Given the description of an element on the screen output the (x, y) to click on. 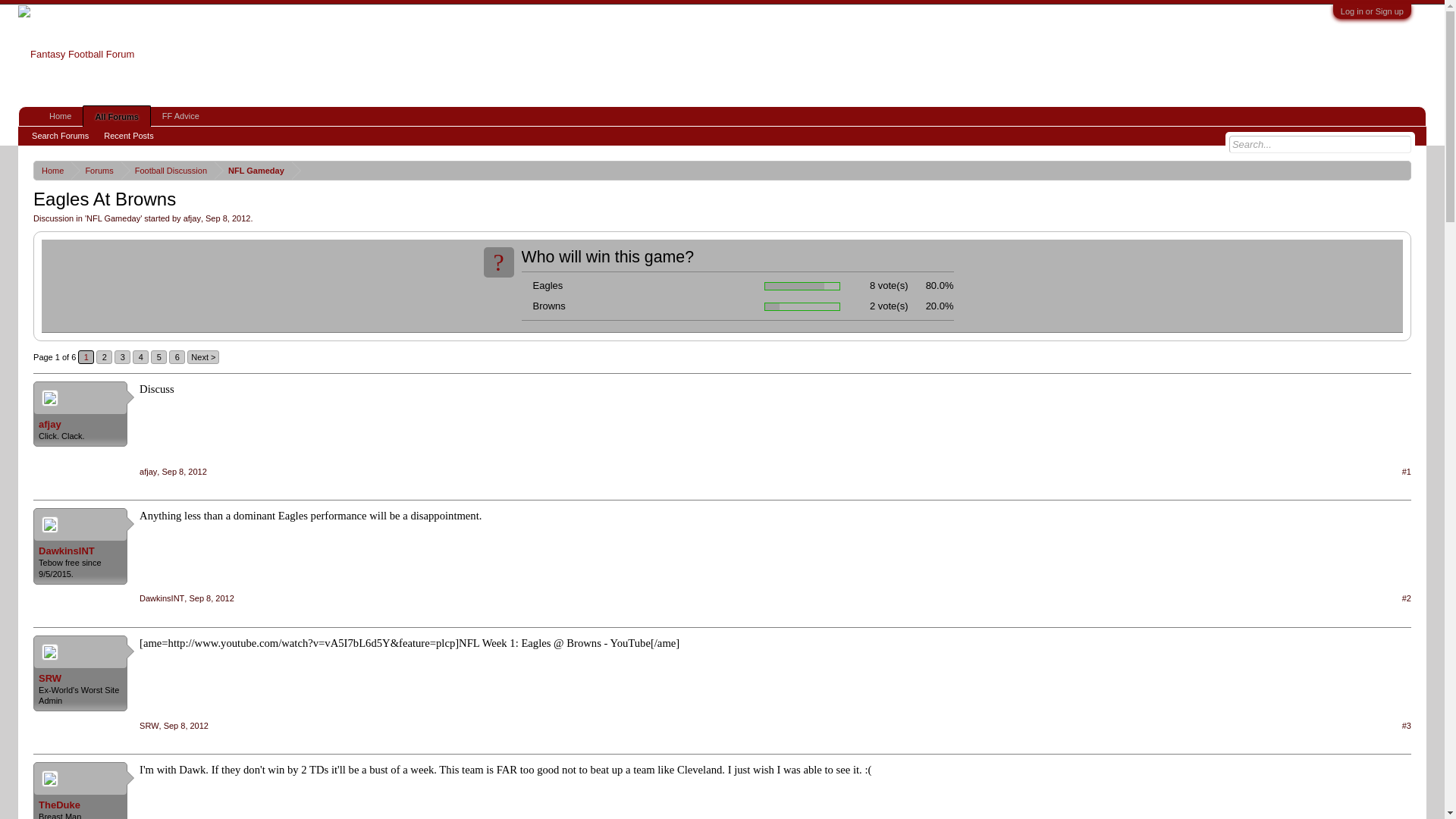
3 (123, 356)
afjay (148, 470)
Sep 8, 2012 (210, 597)
Forums (95, 170)
Permalink (183, 470)
Sep 8, 2012 at 12:23 PM (227, 217)
NFL Gameday (112, 217)
Permalink (185, 724)
Sep 8, 2012 (183, 470)
Open quick navigation (1401, 170)
